Given the description of an element on the screen output the (x, y) to click on. 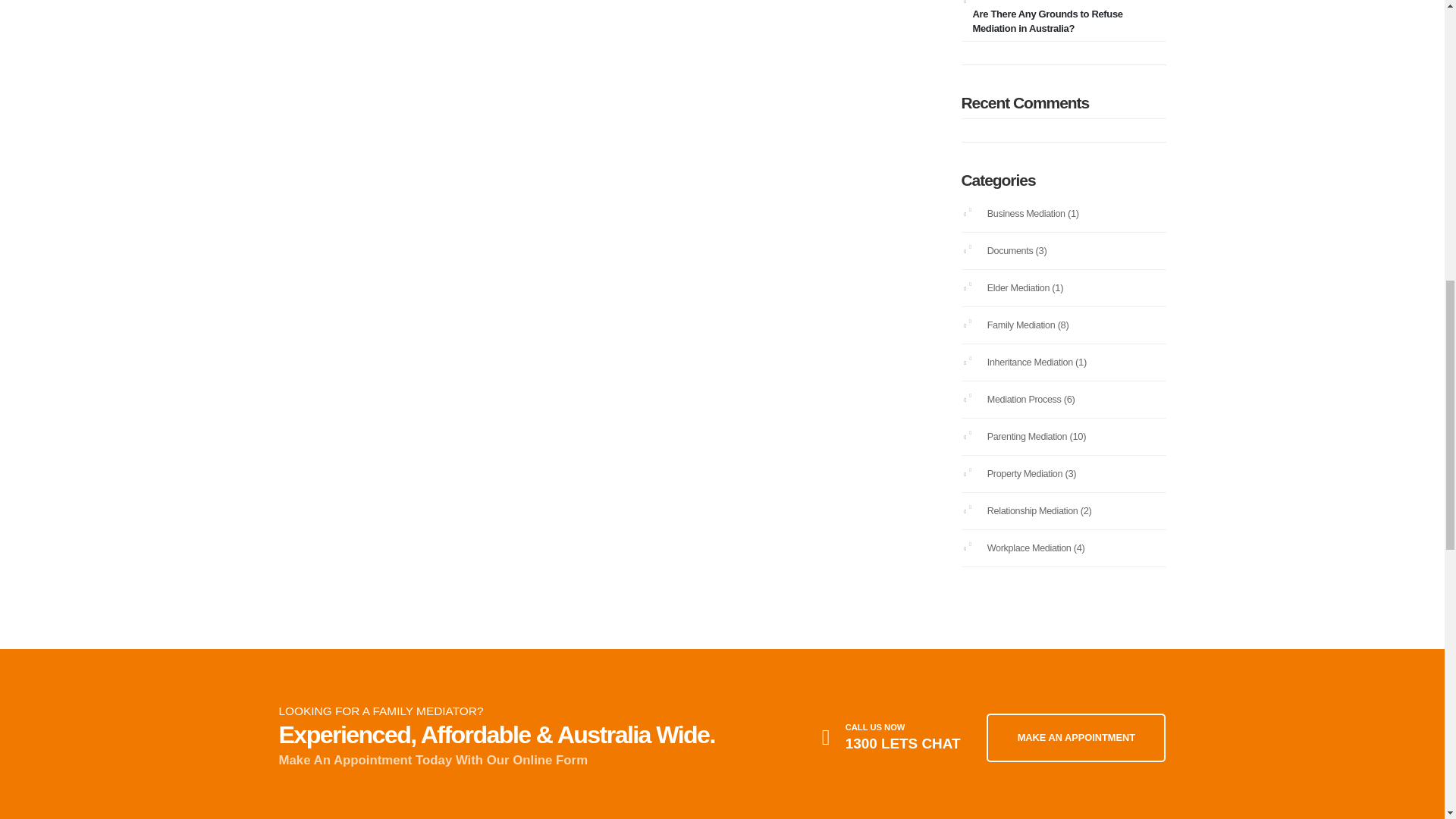
Appointment (1076, 737)
